Given the description of an element on the screen output the (x, y) to click on. 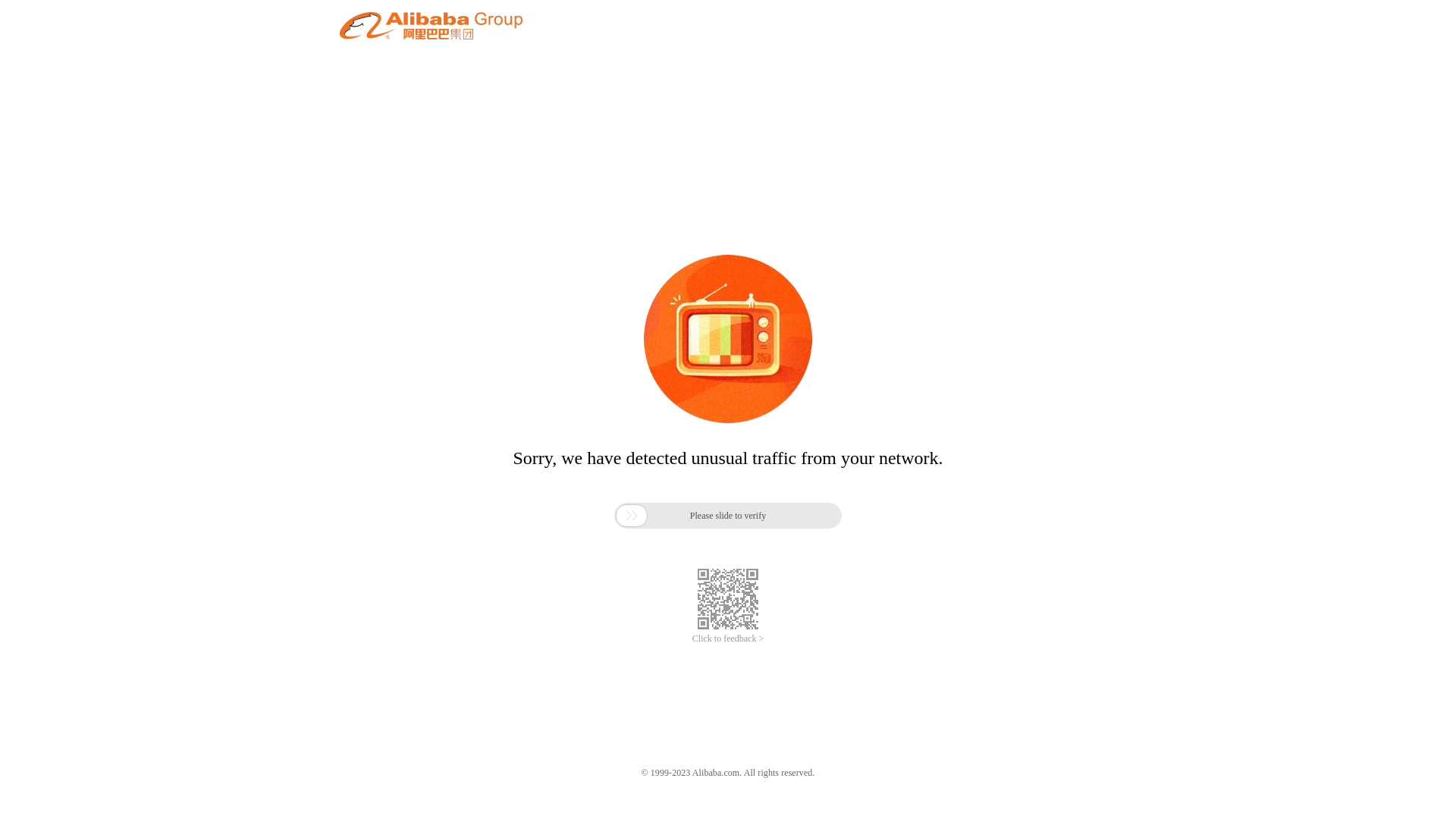
Click to feedback > Element type: text (727, 638)
